Given the description of an element on the screen output the (x, y) to click on. 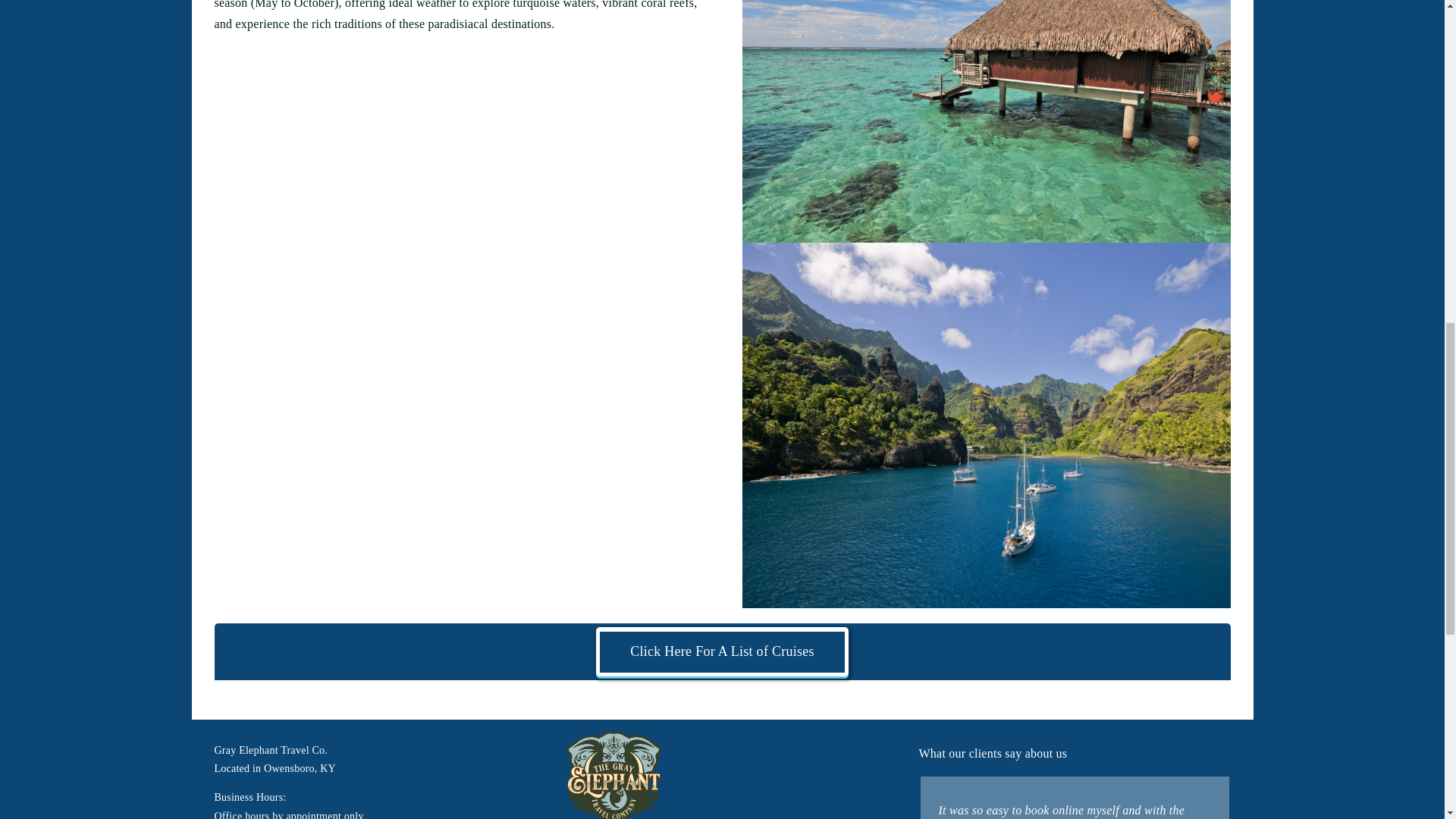
Click Here For A List of Cruises (722, 659)
South Pacific (986, 120)
